Given the description of an element on the screen output the (x, y) to click on. 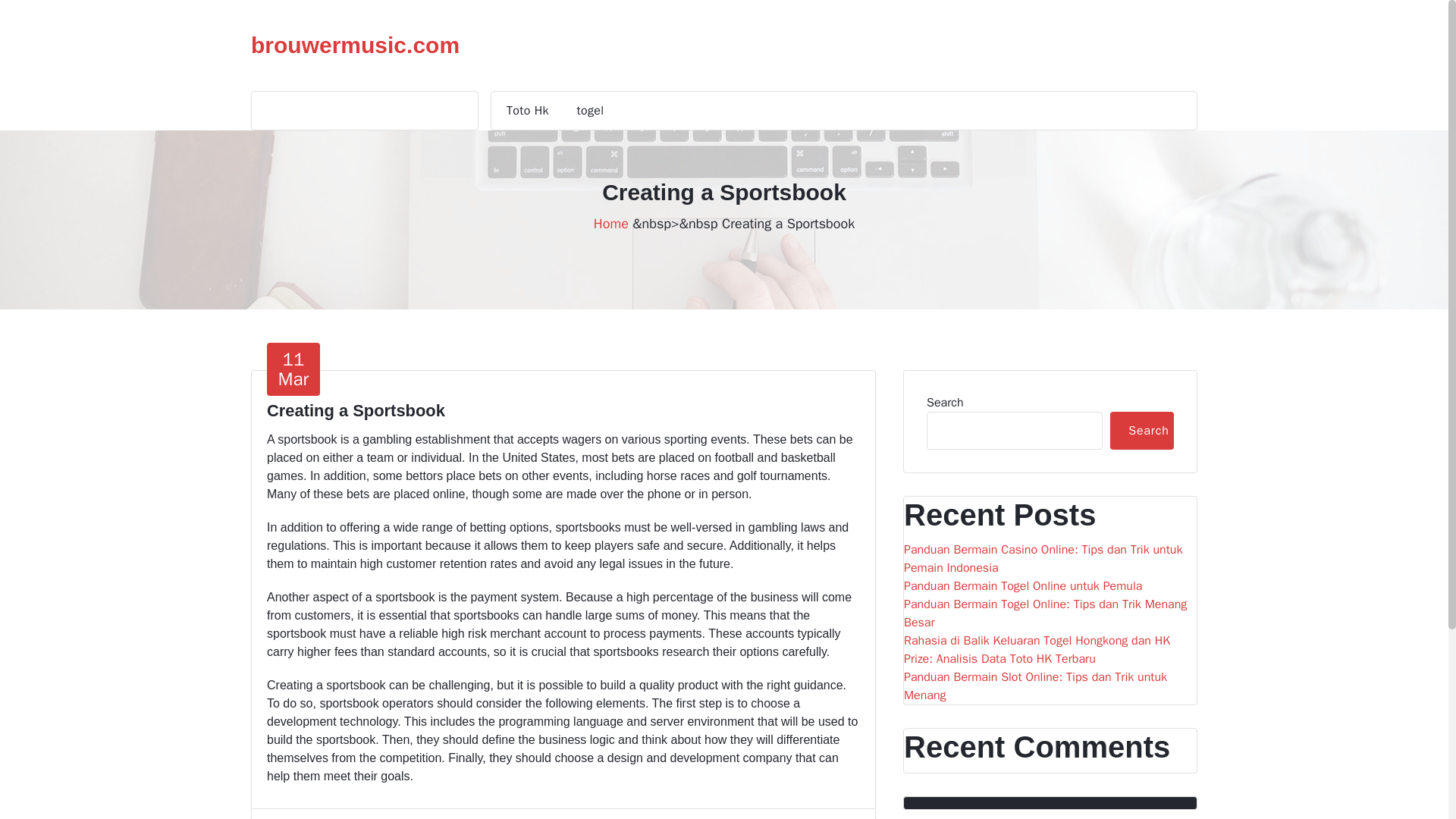
Home (611, 223)
togel (590, 110)
Panduan Bermain Togel Online: Tips dan Trik Menang Besar (293, 369)
togel (1050, 613)
brouwermusic.com (590, 110)
Search (355, 44)
Toto Hk (1141, 430)
Panduan Bermain Slot Online: Tips dan Trik untuk Menang (527, 110)
